Given the description of an element on the screen output the (x, y) to click on. 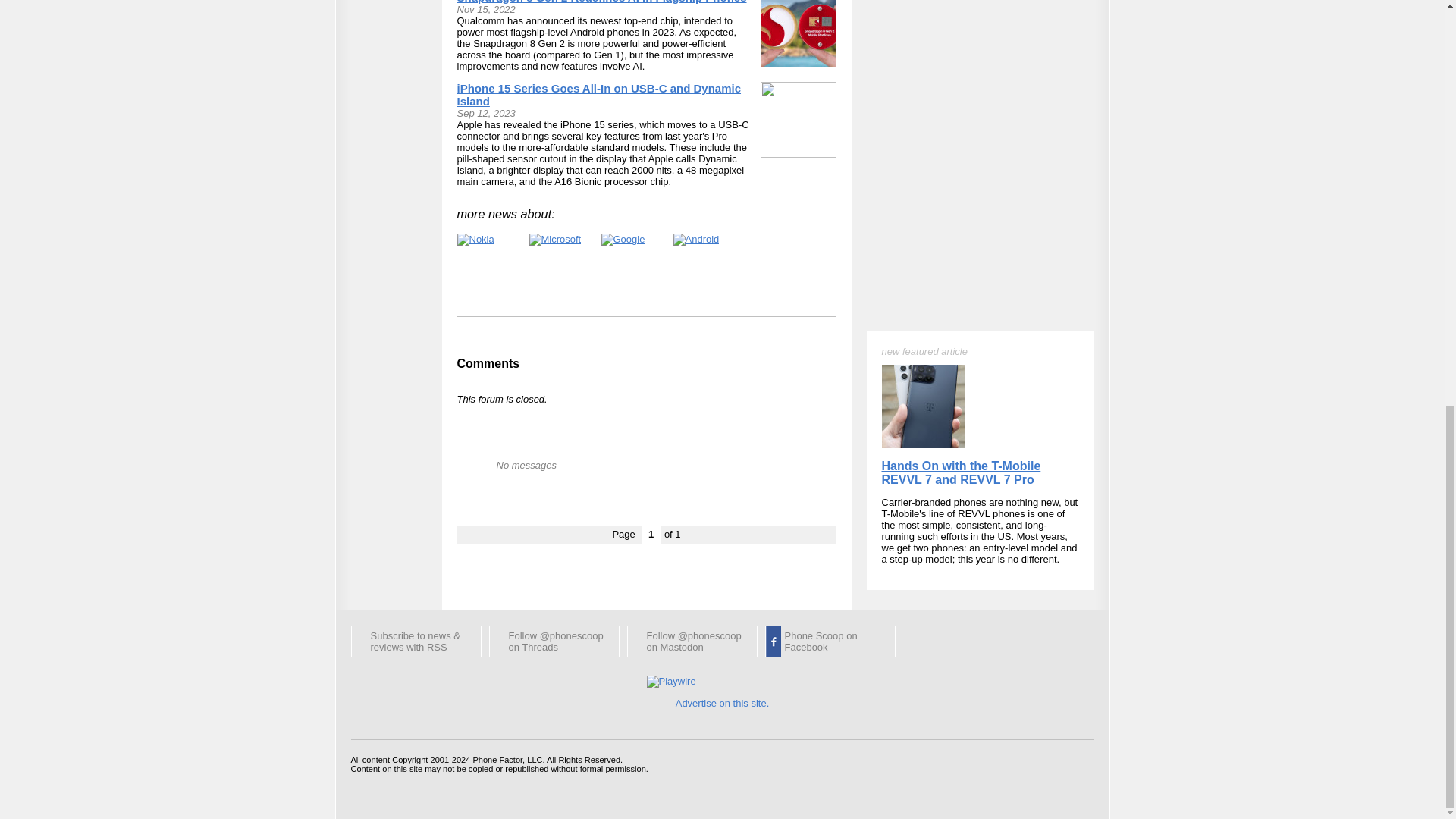
Comments (488, 363)
Microsoft (554, 239)
Nokia (475, 239)
Phone Scoop - Latest News (415, 641)
Google (622, 239)
Android (695, 239)
